Given the description of an element on the screen output the (x, y) to click on. 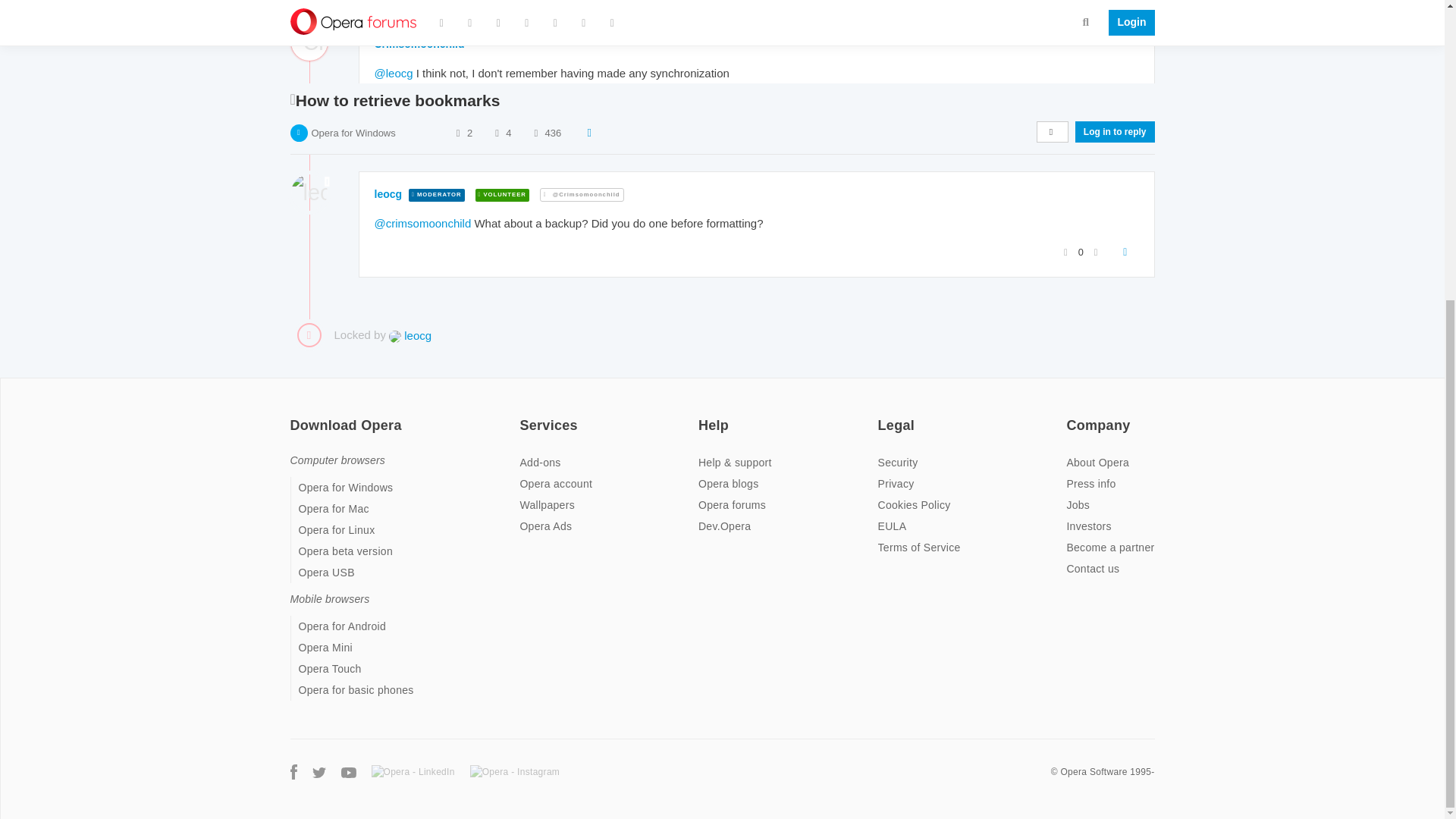
on (293, 415)
on (523, 415)
on (1070, 415)
on (881, 415)
on (702, 415)
